Given the description of an element on the screen output the (x, y) to click on. 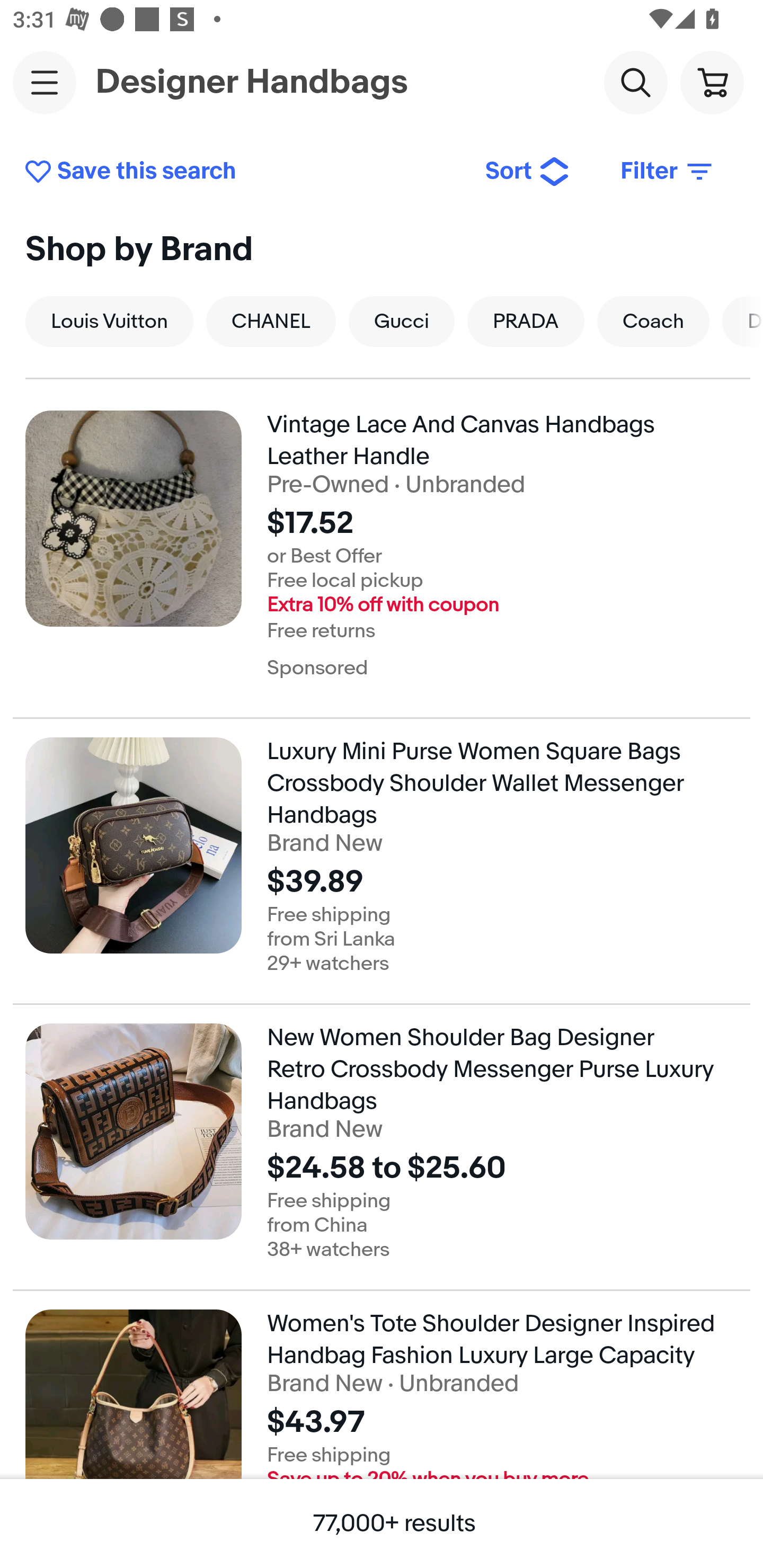
Main navigation, open (44, 82)
Search (635, 81)
Cart button shopping cart (711, 81)
Save this search (241, 171)
Sort (527, 171)
Filter (667, 171)
Louis Vuitton Louis Vuitton, Brand (109, 321)
CHANEL CHANEL, Brand (270, 321)
Gucci Gucci, Brand (401, 321)
PRADA PRADA, Brand (525, 321)
Coach Coach, Brand (653, 321)
